Given the description of an element on the screen output the (x, y) to click on. 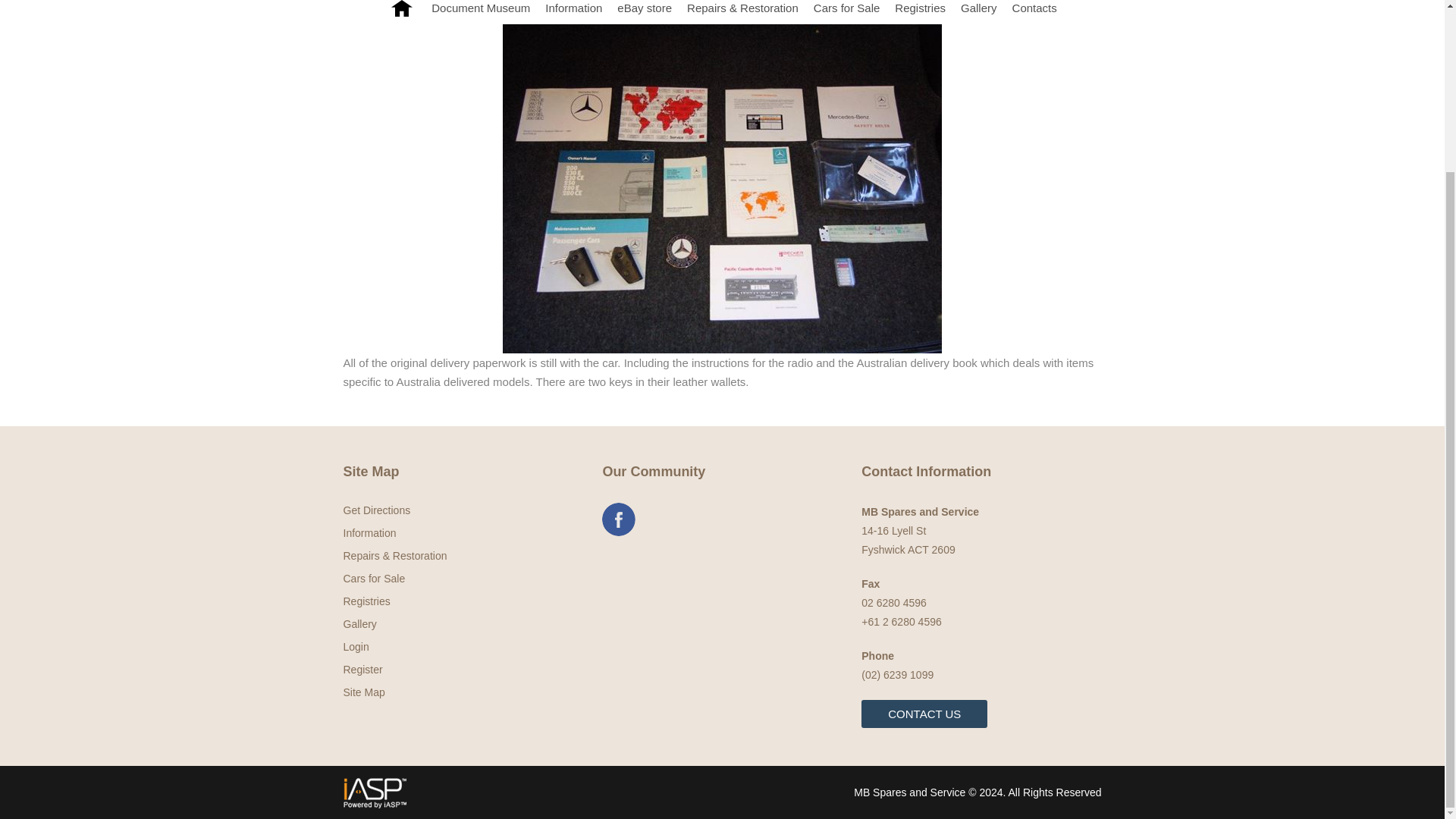
Cars for Sale (847, 12)
Gallery (978, 12)
Document Museum (480, 12)
Information (573, 12)
Contacts (1034, 12)
Contact Us (924, 714)
eBay store (644, 12)
Follow Us On Facebook (618, 519)
Registries (919, 12)
